Given the description of an element on the screen output the (x, y) to click on. 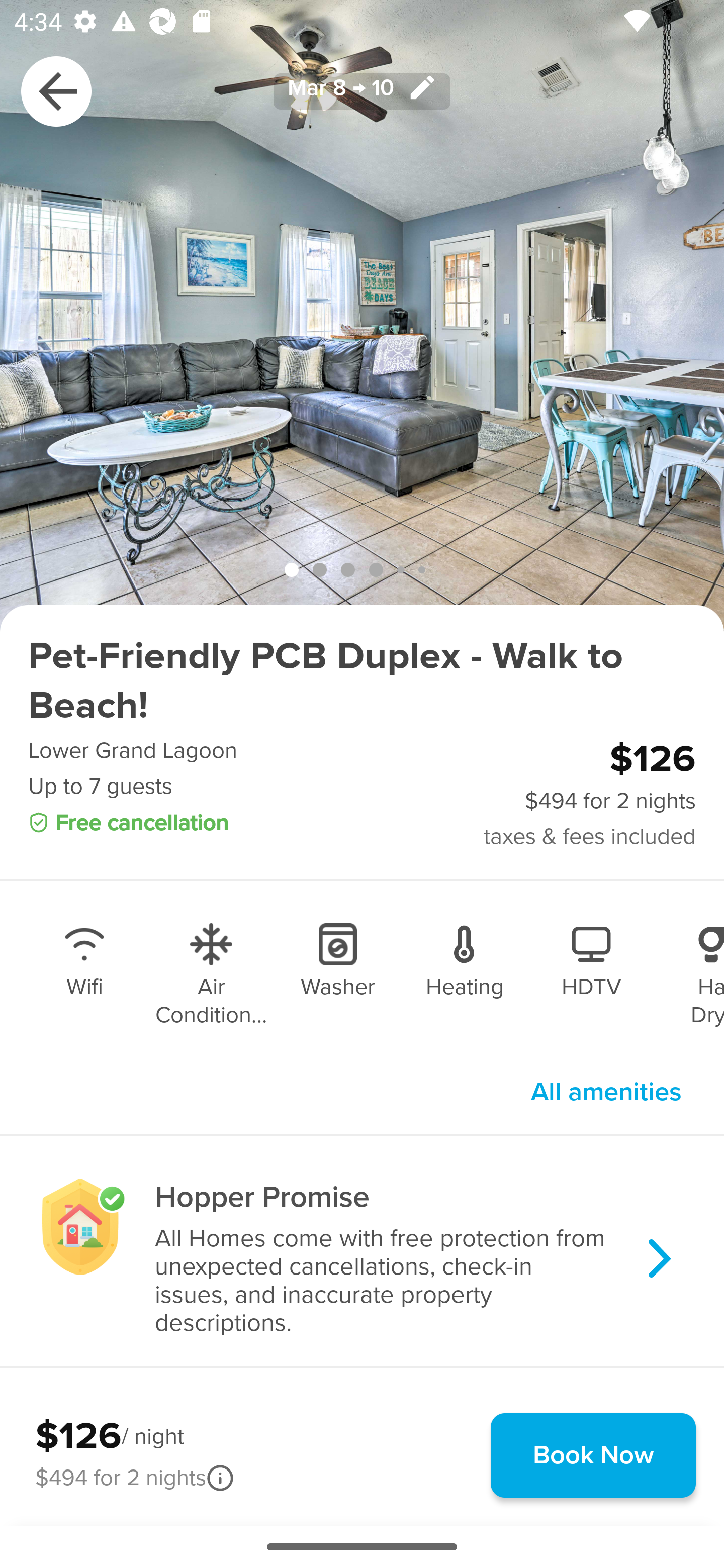
Mar 8 → 10 (361, 90)
Pet-Friendly PCB Duplex - Walk to Beach! (361, 681)
All amenities (606, 1091)
Book Now (592, 1454)
